Given the description of an element on the screen output the (x, y) to click on. 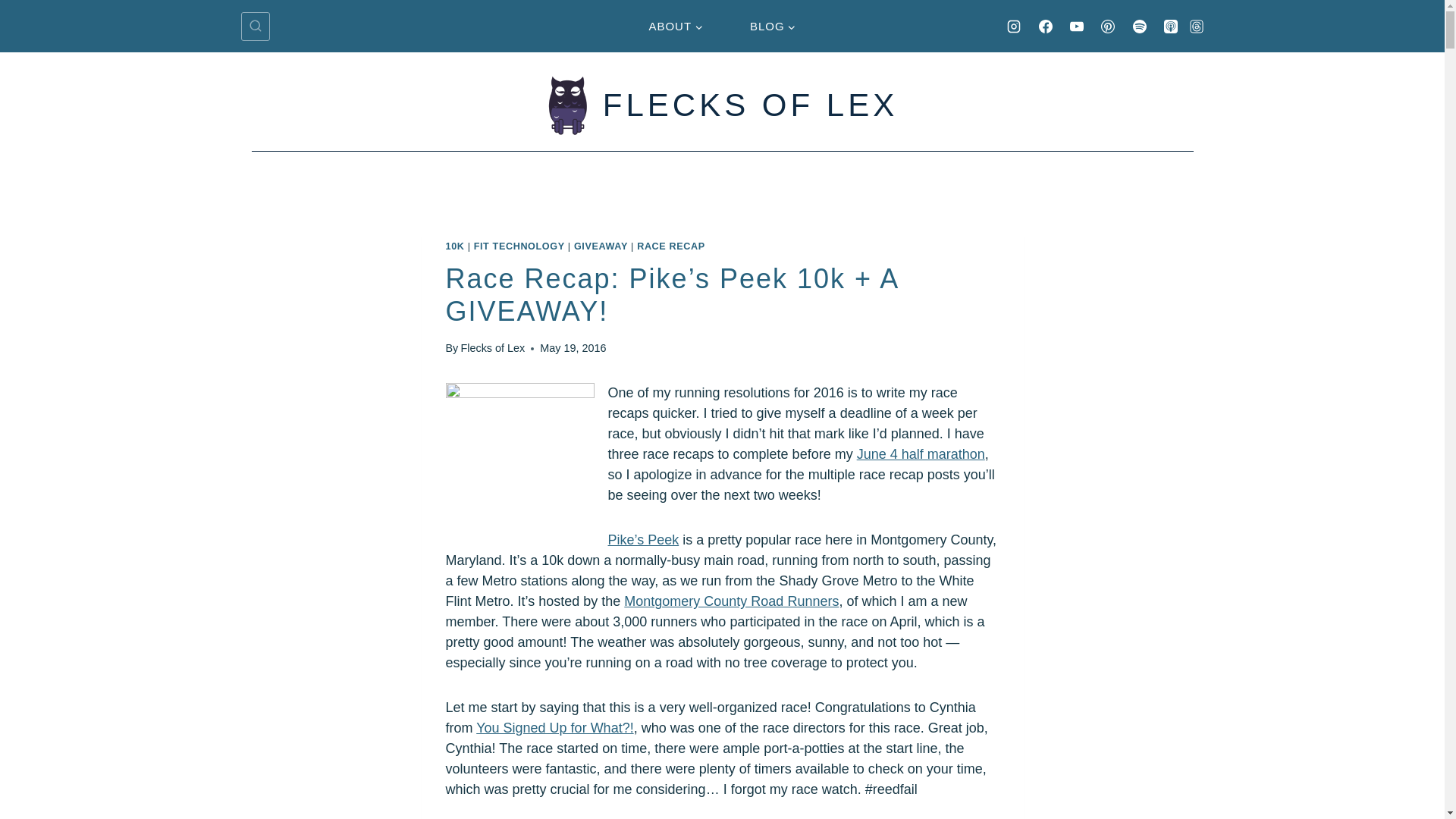
GIVEAWAY (600, 245)
RACE RECAP (670, 245)
Flecks of Lex (492, 347)
FIT TECHNOLOGY (519, 245)
ABOUT (676, 26)
Montgomery County Road Runners (731, 601)
June 4 half marathon (921, 453)
FLECKS OF LEX (722, 105)
10K (454, 245)
You Signed Up for What?! (554, 727)
